Given the description of an element on the screen output the (x, y) to click on. 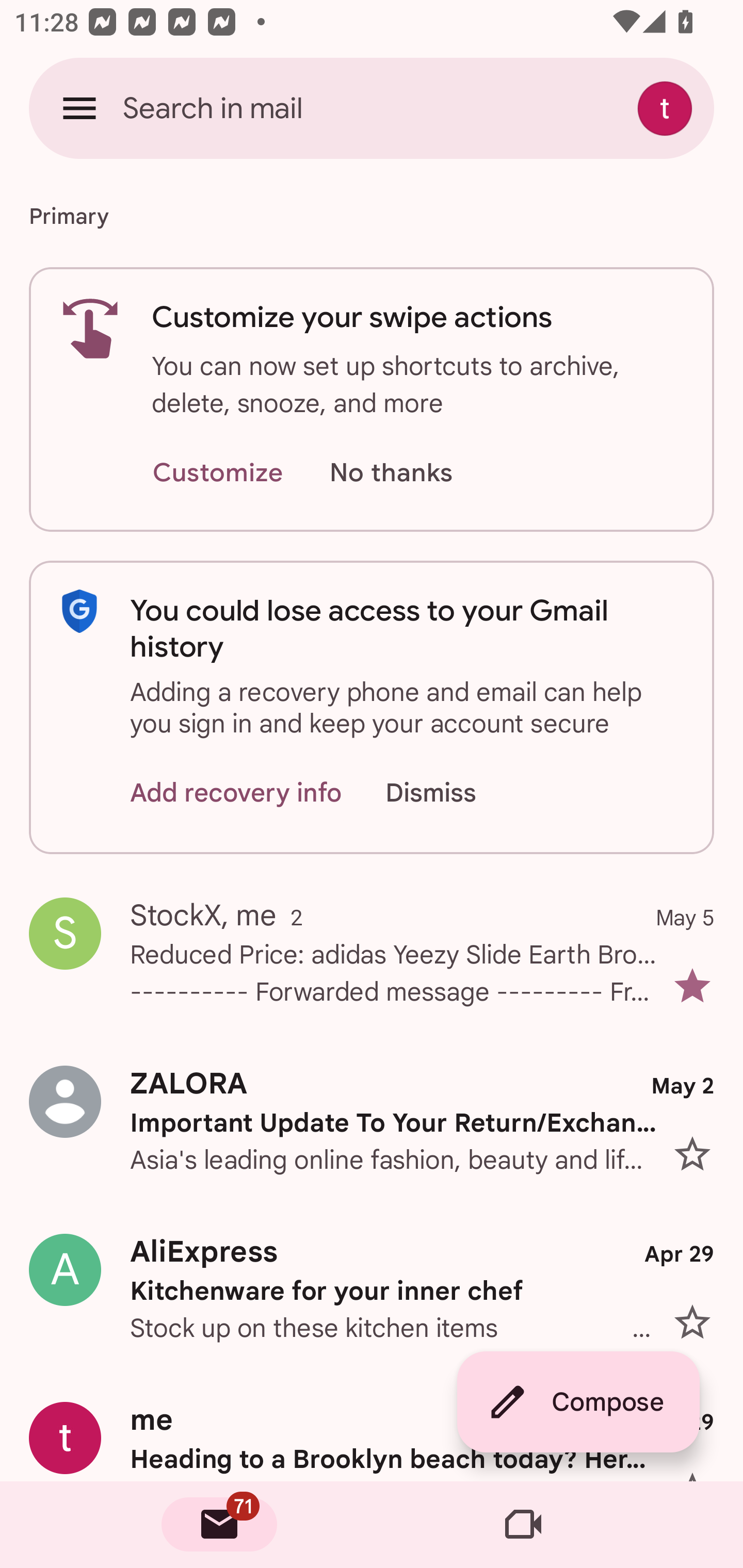
Open navigation drawer (79, 108)
Customize (217, 473)
No thanks (390, 473)
Add recovery info (235, 792)
Dismiss (449, 792)
Compose (577, 1401)
Meet (523, 1524)
